Given the description of an element on the screen output the (x, y) to click on. 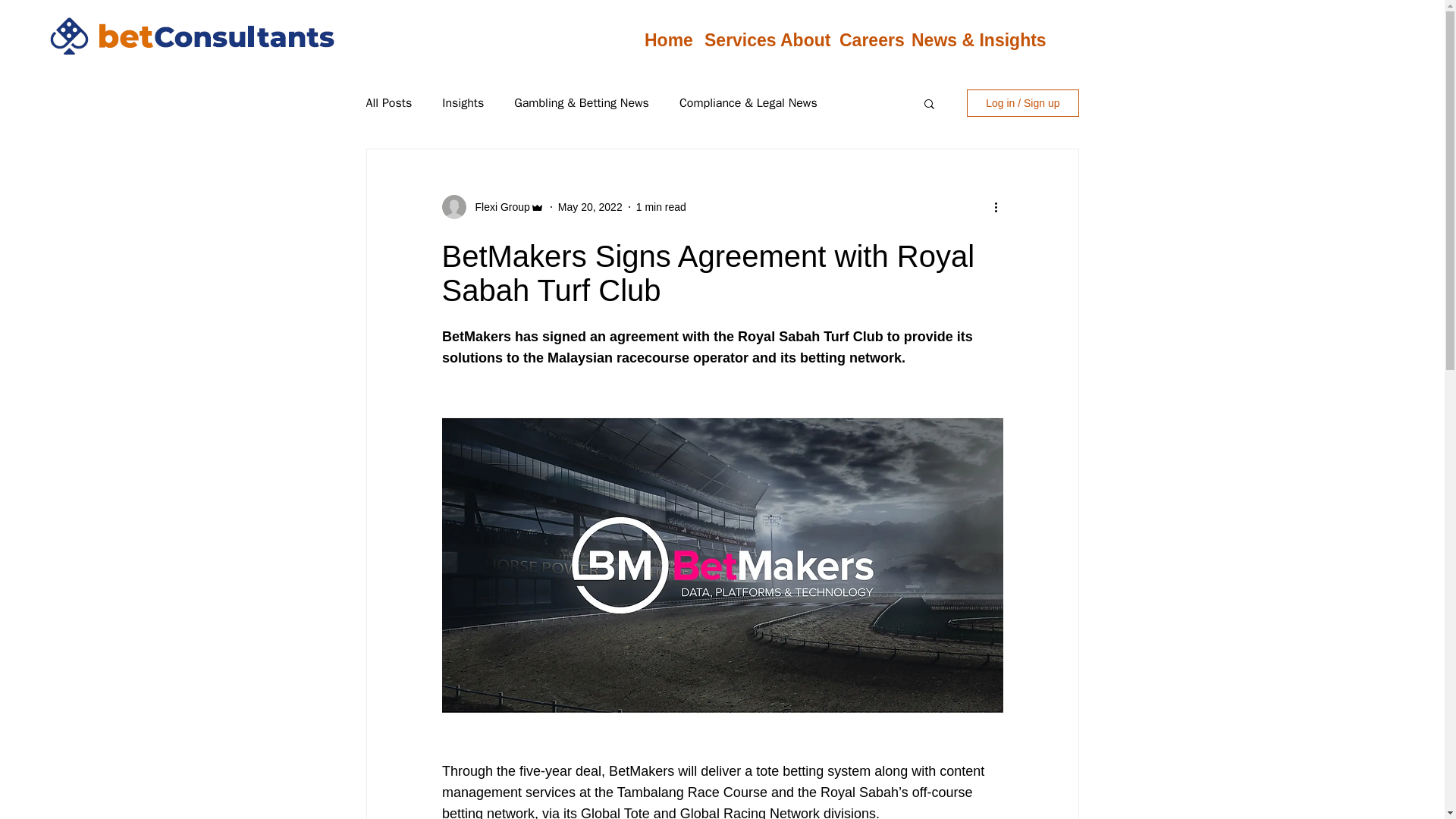
May 20, 2022 (590, 205)
1 min read (660, 205)
Insights (462, 103)
Careers (863, 39)
All Posts (388, 103)
Flexi Group (497, 206)
About (798, 39)
Services (730, 39)
Home (663, 39)
